Given the description of an element on the screen output the (x, y) to click on. 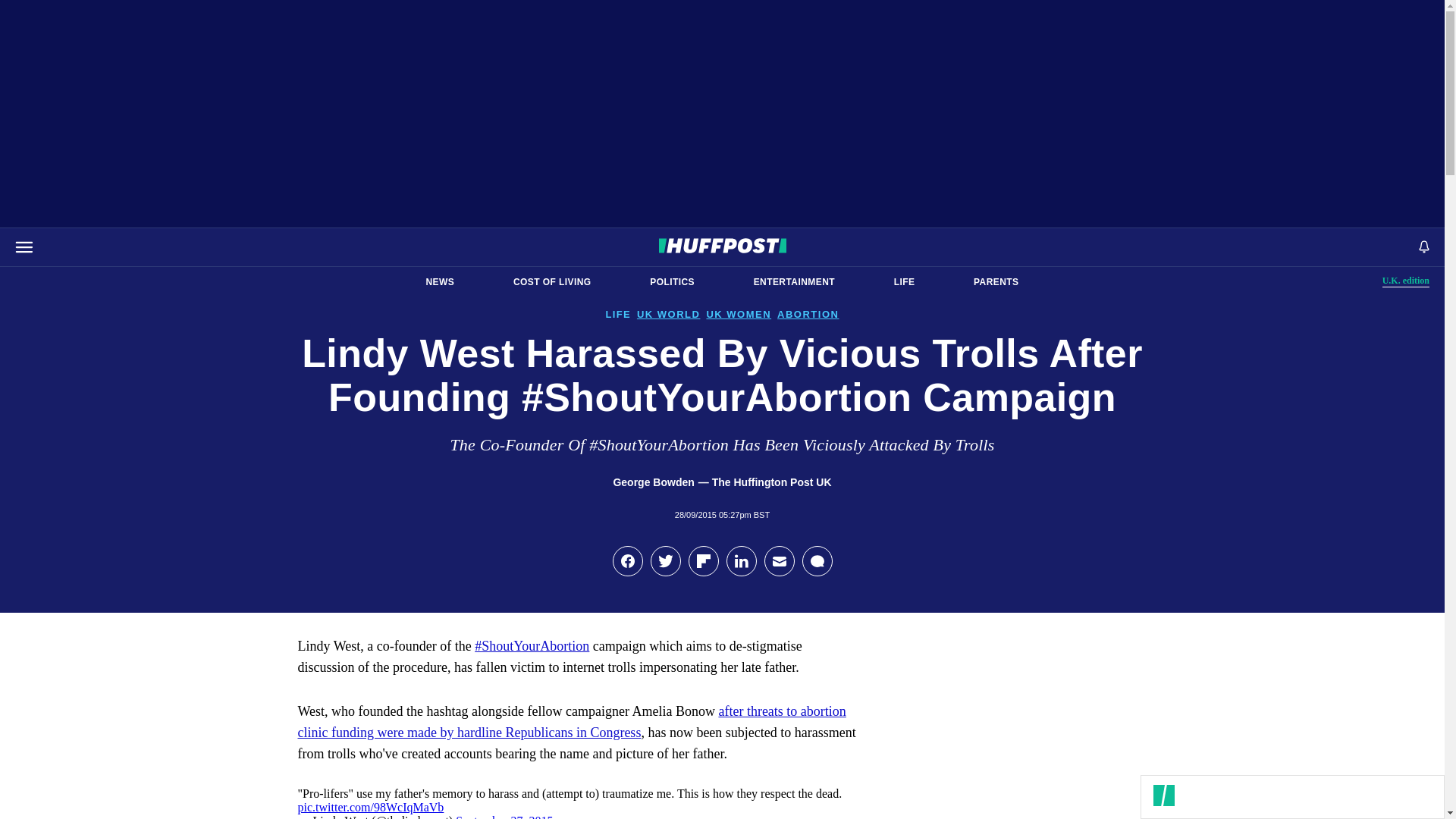
LIFE (904, 281)
PARENTS (995, 281)
COST OF LIVING (552, 281)
POLITICS (671, 281)
NEWS (440, 281)
ENTERTAINMENT (1405, 281)
